Given the description of an element on the screen output the (x, y) to click on. 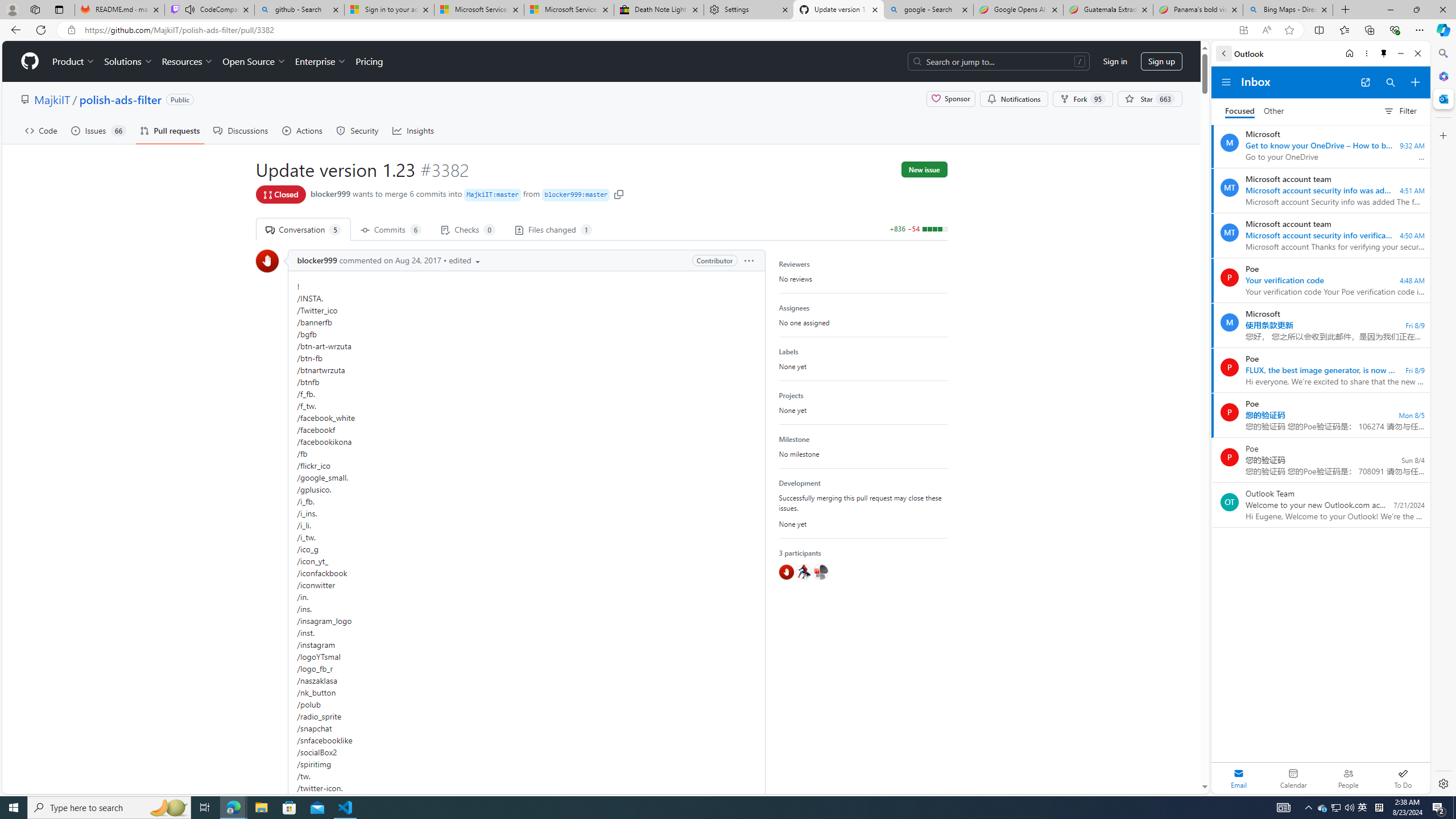
@blocker999 (785, 572)
Enterprise (319, 60)
Pull requests (170, 130)
Sponsor (950, 98)
 Checks 0 (467, 228)
Show options (749, 260)
Selected mail module (1238, 777)
Filter (1399, 110)
People (1347, 777)
Open Source (254, 60)
